Given the description of an element on the screen output the (x, y) to click on. 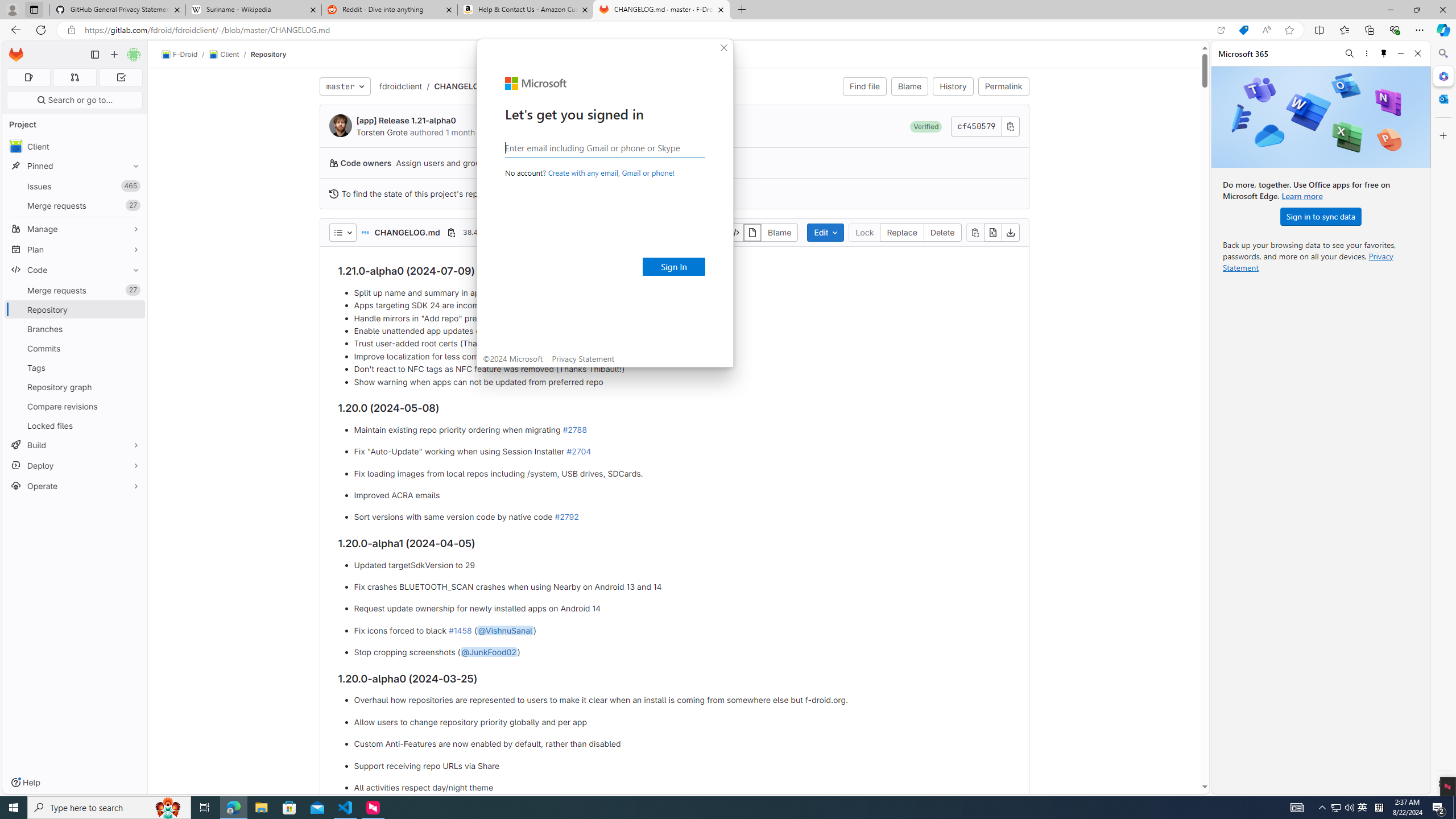
Visual Studio Code - 1 running window (345, 807)
Pinned (74, 165)
Repository graph (74, 386)
Edit (825, 232)
Reddit - Dive into anything (390, 9)
Pin Repository graph (132, 386)
Copy file contents (974, 232)
Lock (864, 232)
Repository (268, 53)
Pin Commits (132, 348)
User Promoted Notification Area (1342, 807)
Permalink (1002, 85)
